Given the description of an element on the screen output the (x, y) to click on. 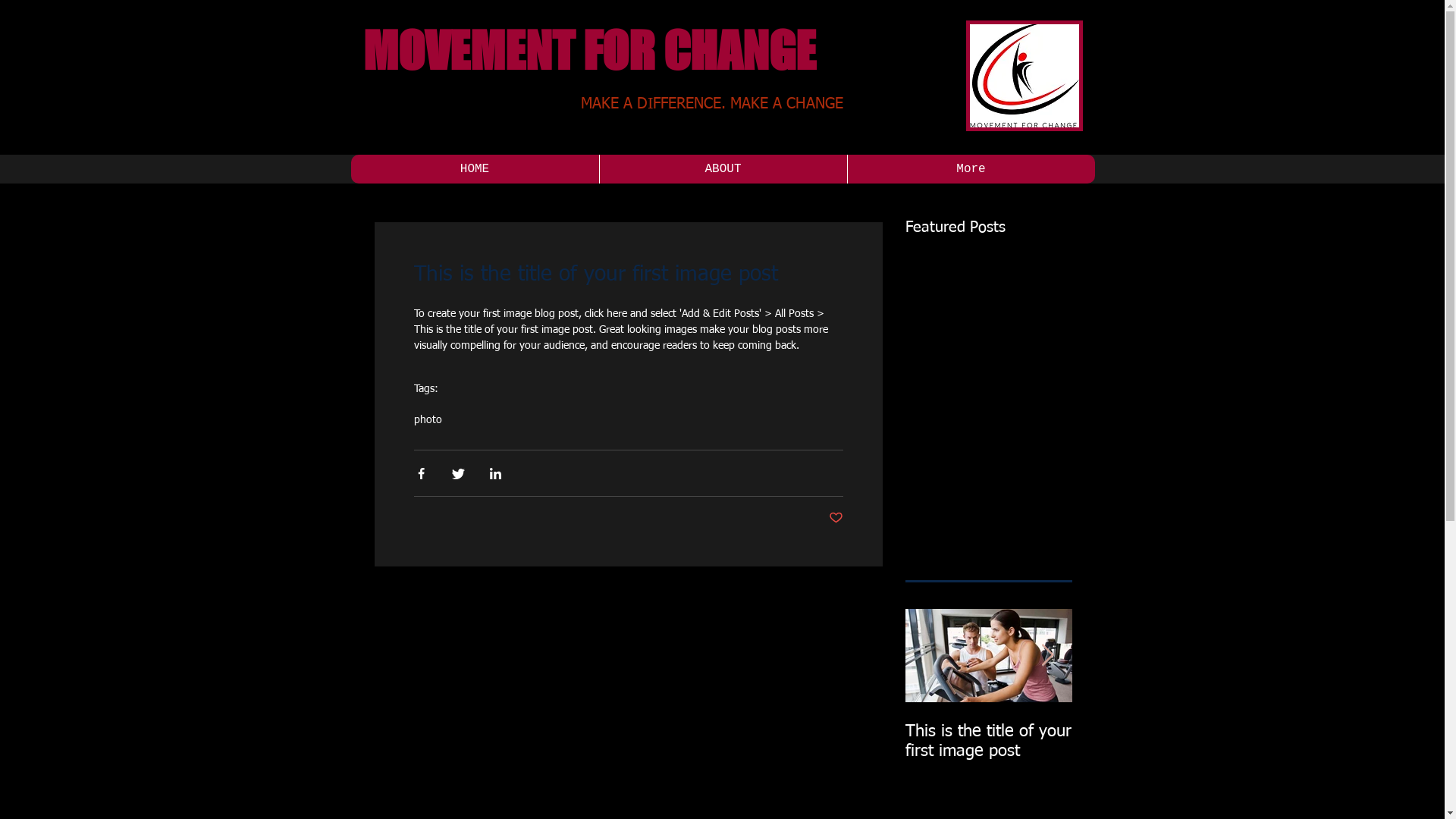
Post not marked as liked Element type: text (835, 518)
ABOUT Element type: text (723, 168)
HOME Element type: text (474, 168)
This is the title of your first image post Element type: text (988, 741)
photo Element type: text (428, 420)
MOVEMENT FOR CHANGE finished.jpg Element type: hover (1024, 75)
MOVEMENT FOR CHANGE Element type: text (588, 50)
This is the title of your first video post Element type: text (1155, 741)
